Given the description of an element on the screen output the (x, y) to click on. 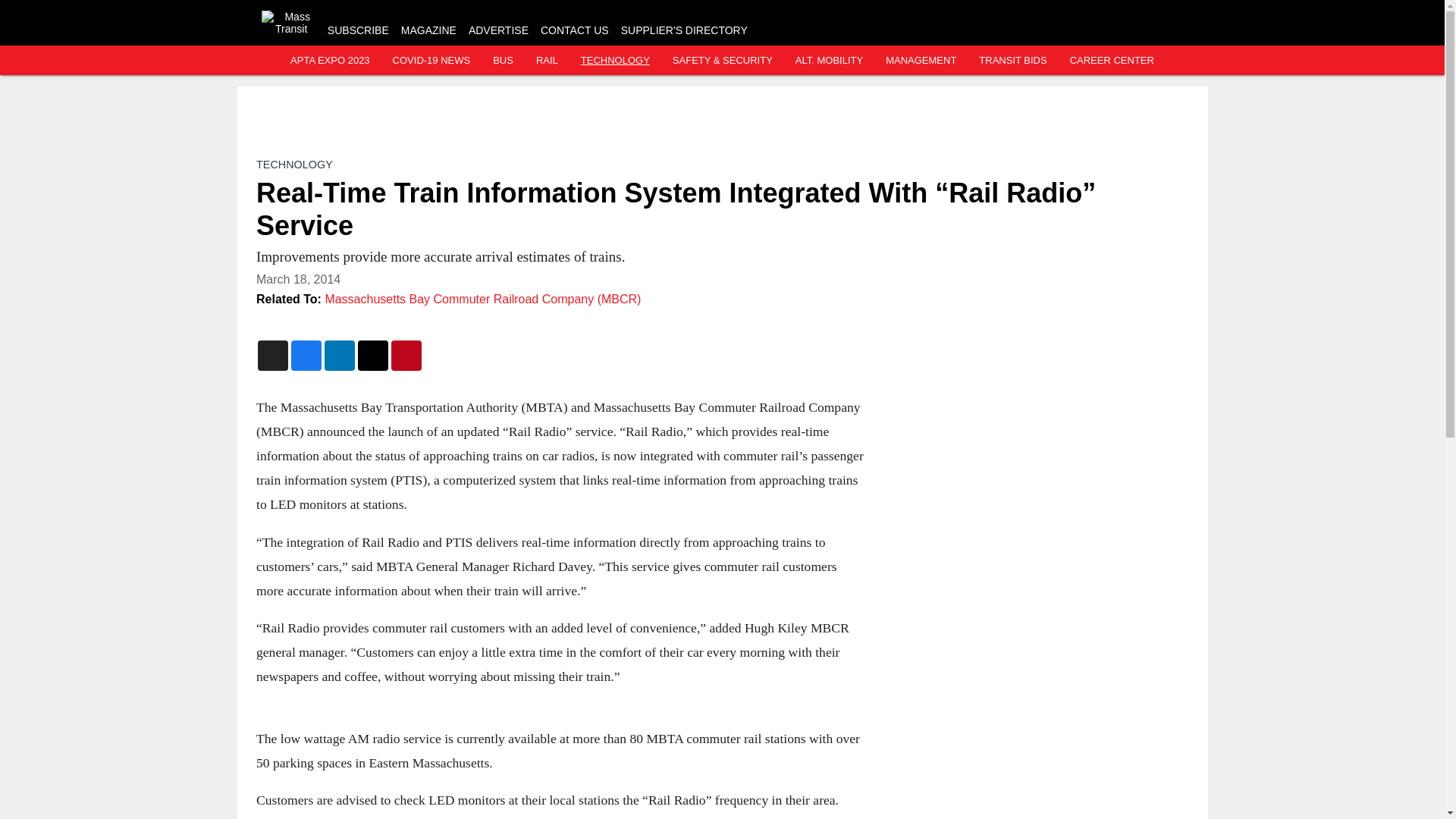
CONTACT US (574, 30)
COVID-19 NEWS (431, 60)
MANAGEMENT (920, 60)
SUBSCRIBE (357, 30)
ADVERTISE (498, 30)
TRANSIT BIDS (1012, 60)
RAIL (546, 60)
TECHNOLOGY (294, 164)
SUPPLIER'S DIRECTORY (684, 30)
APTA EXPO 2023 (329, 60)
